Given the description of an element on the screen output the (x, y) to click on. 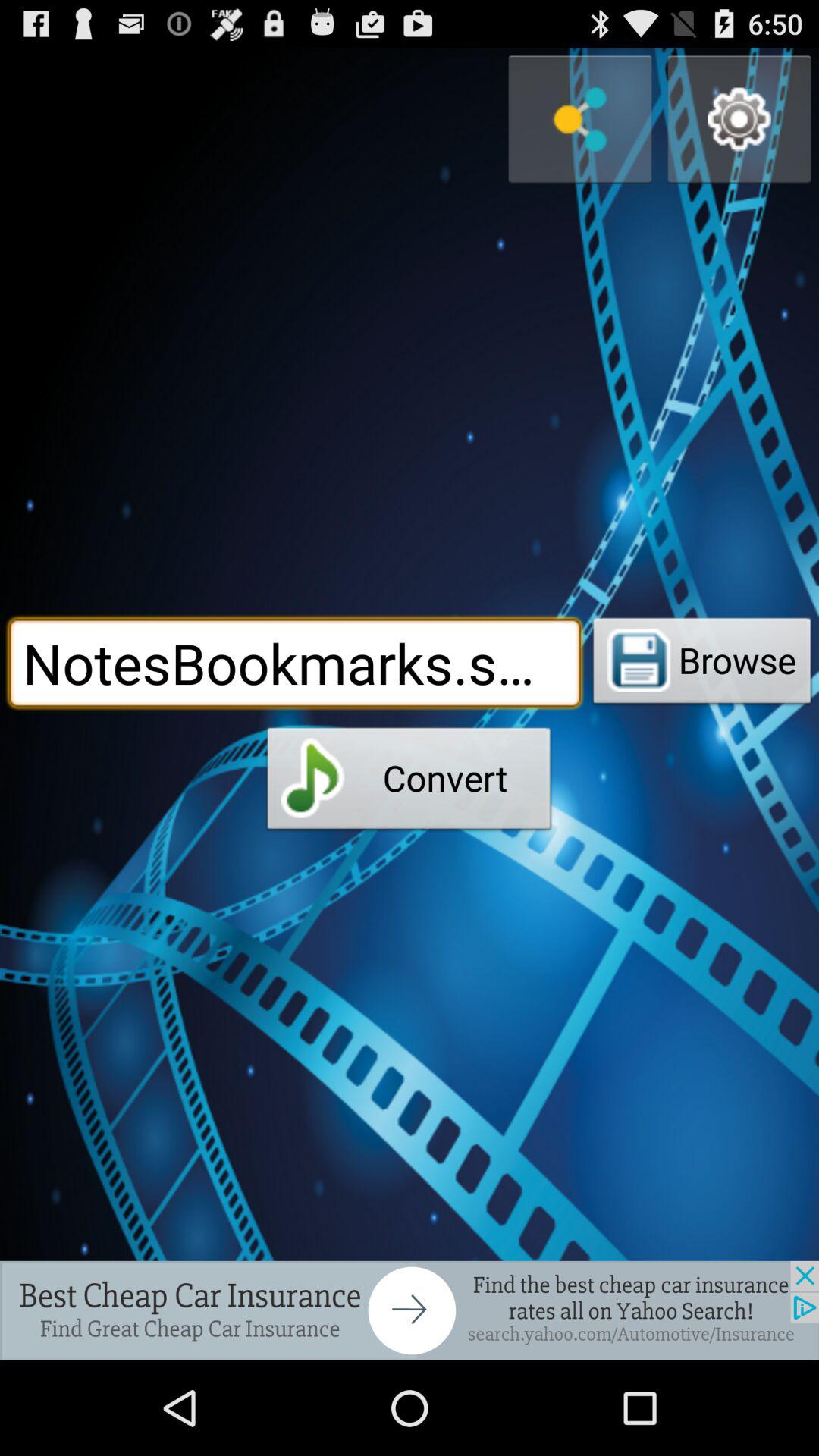
share the file (579, 119)
